Given the description of an element on the screen output the (x, y) to click on. 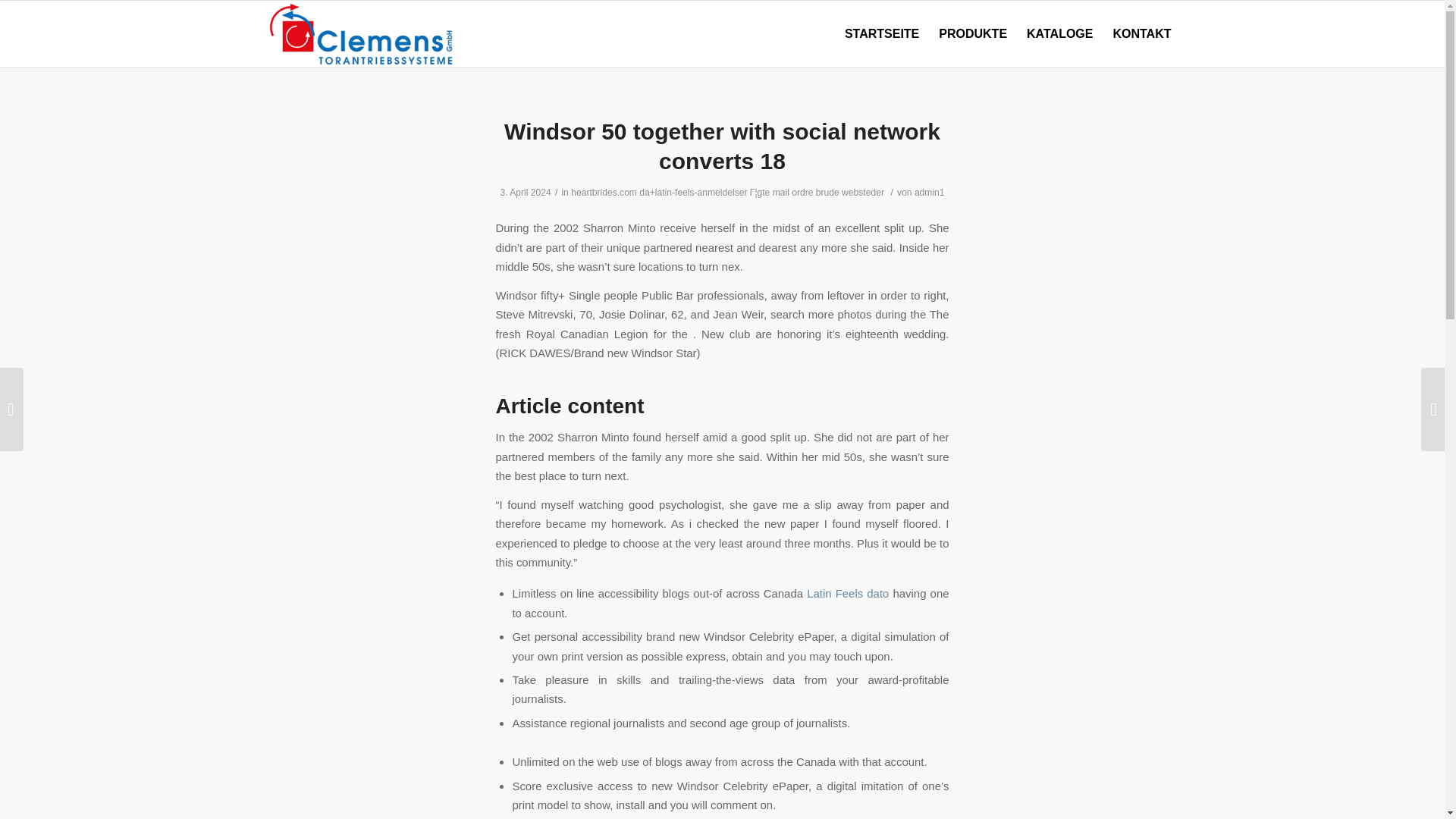
admin1 (929, 192)
PRODUKTE (972, 33)
KONTAKT (1141, 33)
Windsor 50 together with social network converts 18 (721, 145)
STARTSEITE (881, 33)
KATALOGE (1059, 33)
Latin Feels dato (847, 593)
